Given the description of an element on the screen output the (x, y) to click on. 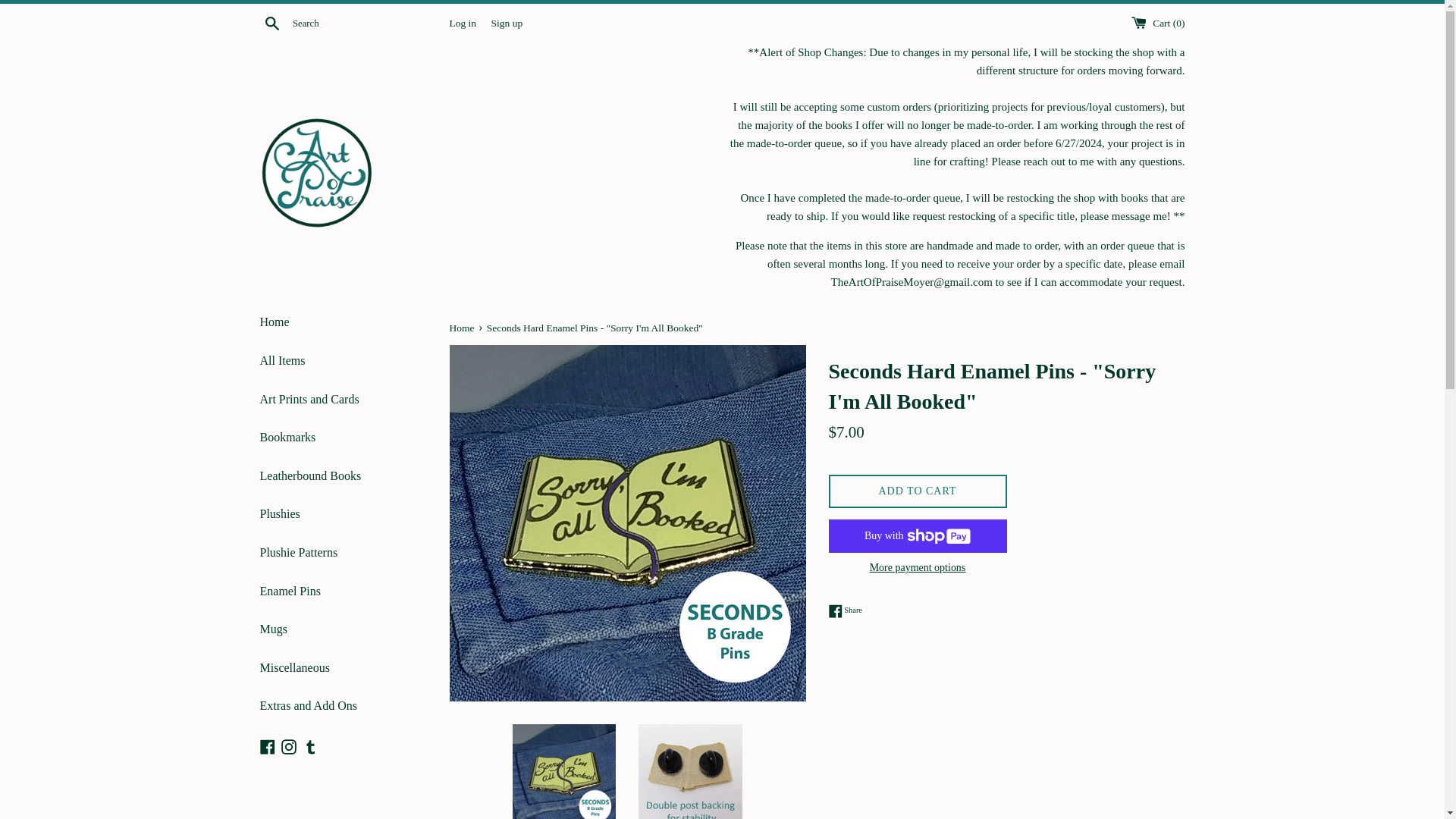
Sign up (507, 21)
Home (342, 322)
Back to the frontpage (462, 327)
Plushies (342, 514)
Miscellaneous (342, 668)
Instagram (289, 746)
Home (462, 327)
TheArtOfPraise on Instagram (289, 746)
ADD TO CART (917, 491)
Enamel Pins (342, 591)
Bookmarks (844, 611)
Facebook (342, 437)
Log in (267, 746)
TheArtOfPraise on Tumblr (462, 21)
